Given the description of an element on the screen output the (x, y) to click on. 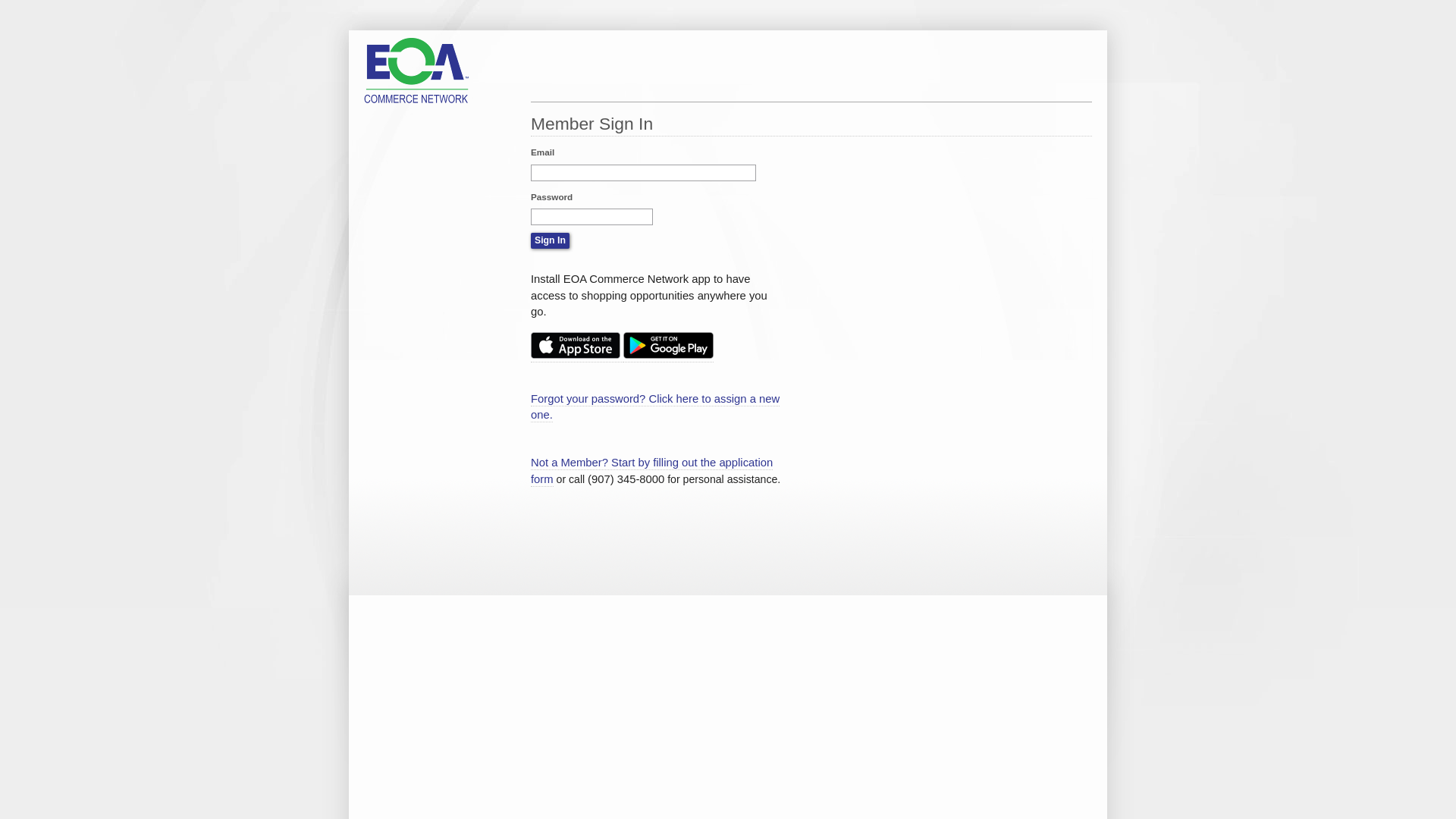
Not a Member? Start by filling out the application form Element type: text (651, 471)
Sign In Element type: text (549, 240)
Forgot your password? Click here to assign a new one. Element type: text (654, 407)
